Given the description of an element on the screen output the (x, y) to click on. 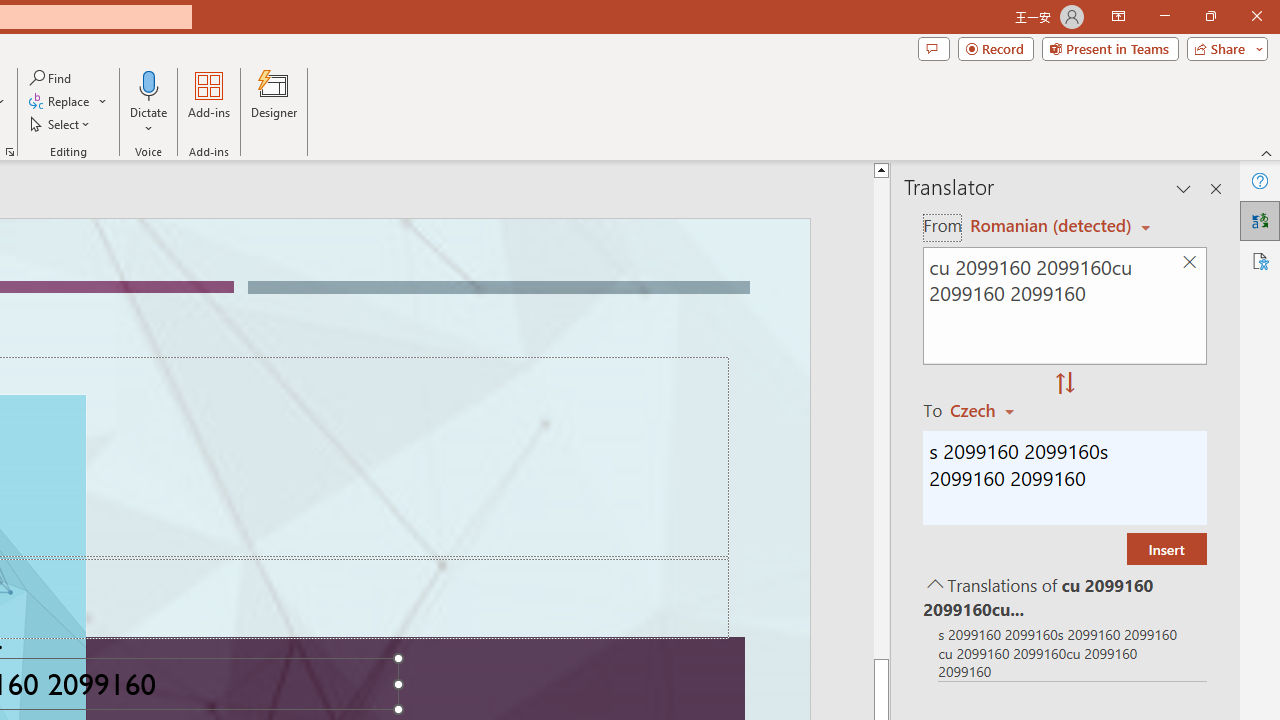
Translations of cu 2099160 2099160cu 2099160 2099160 (1064, 596)
Czech (991, 409)
